Given the description of an element on the screen output the (x, y) to click on. 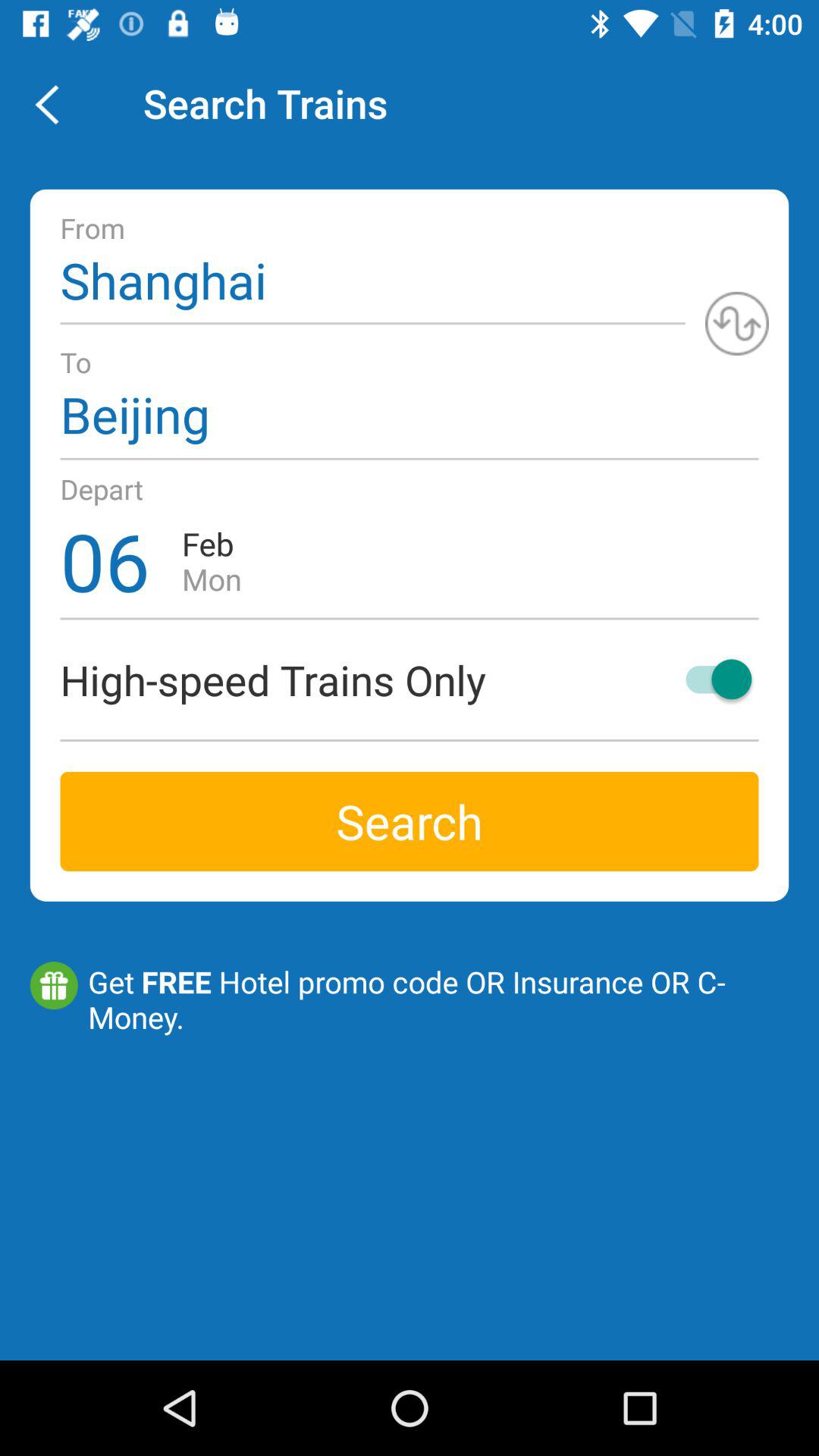
toggle high-sheep trains only option (711, 679)
